Given the description of an element on the screen output the (x, y) to click on. 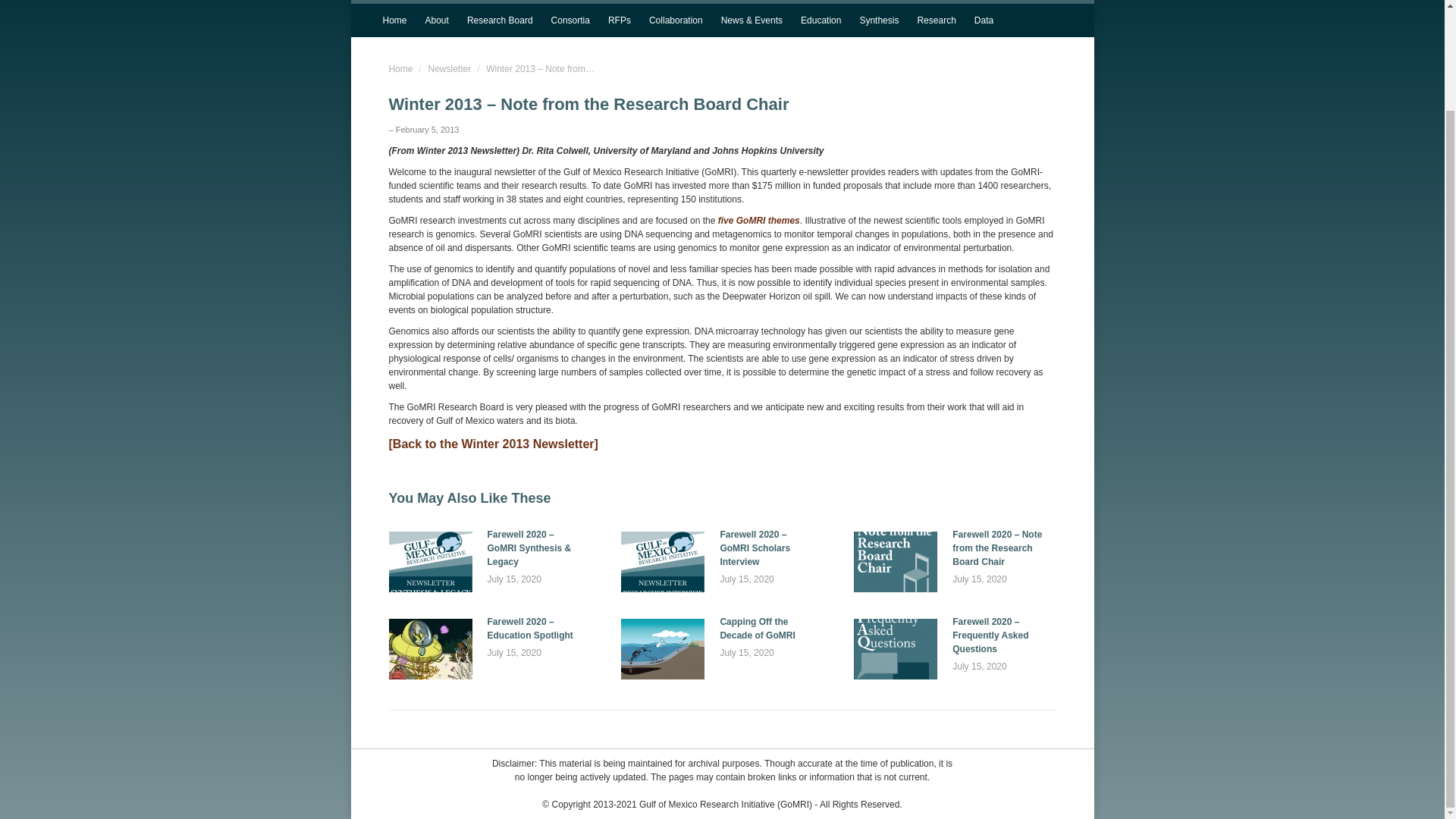
Newsletter (449, 68)
RFPs (619, 20)
Research Board (499, 20)
Home (400, 68)
Home (393, 20)
About (437, 20)
Consortia (569, 20)
